Given the description of an element on the screen output the (x, y) to click on. 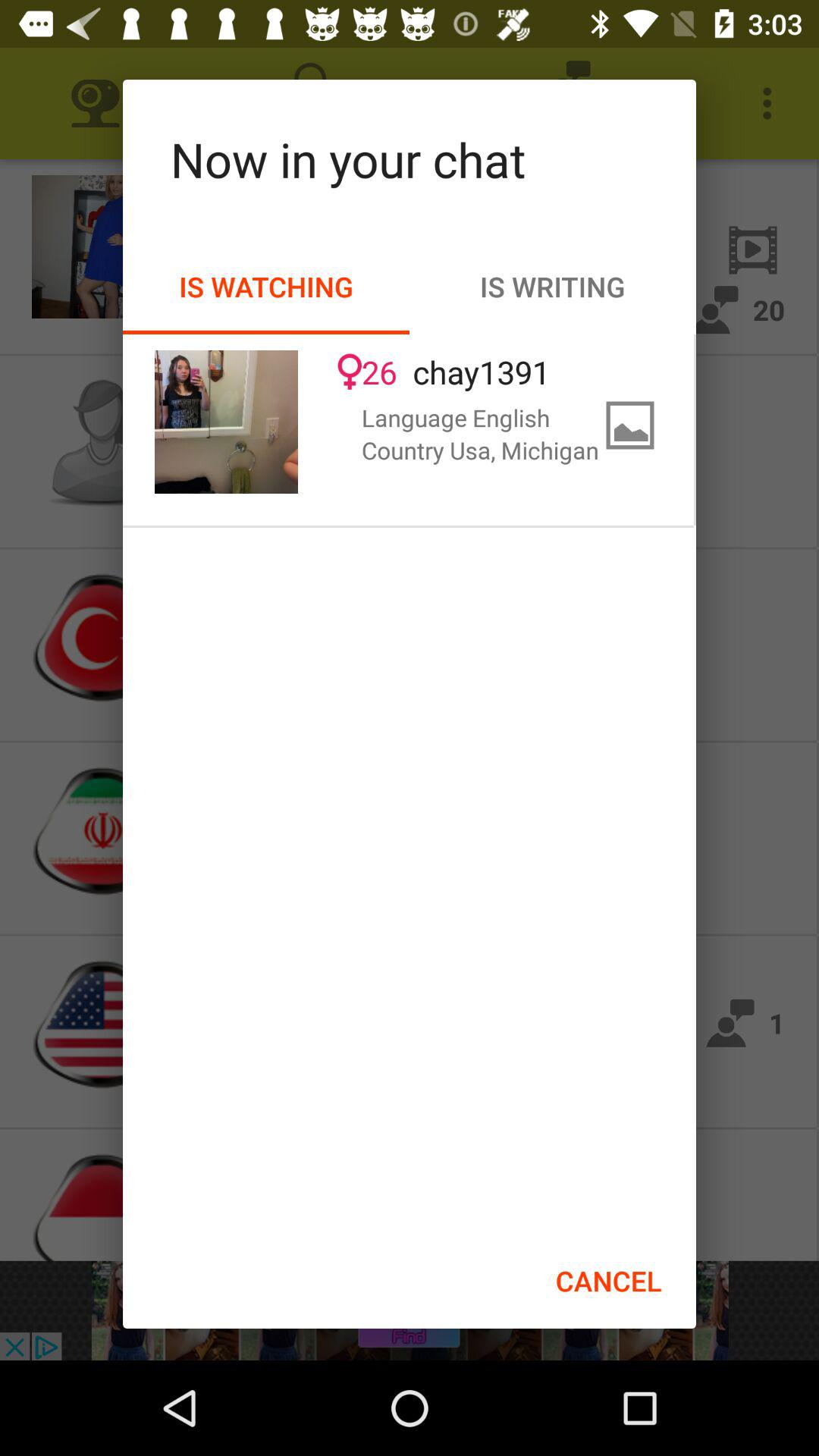
launch the item below is watching (226, 421)
